Given the description of an element on the screen output the (x, y) to click on. 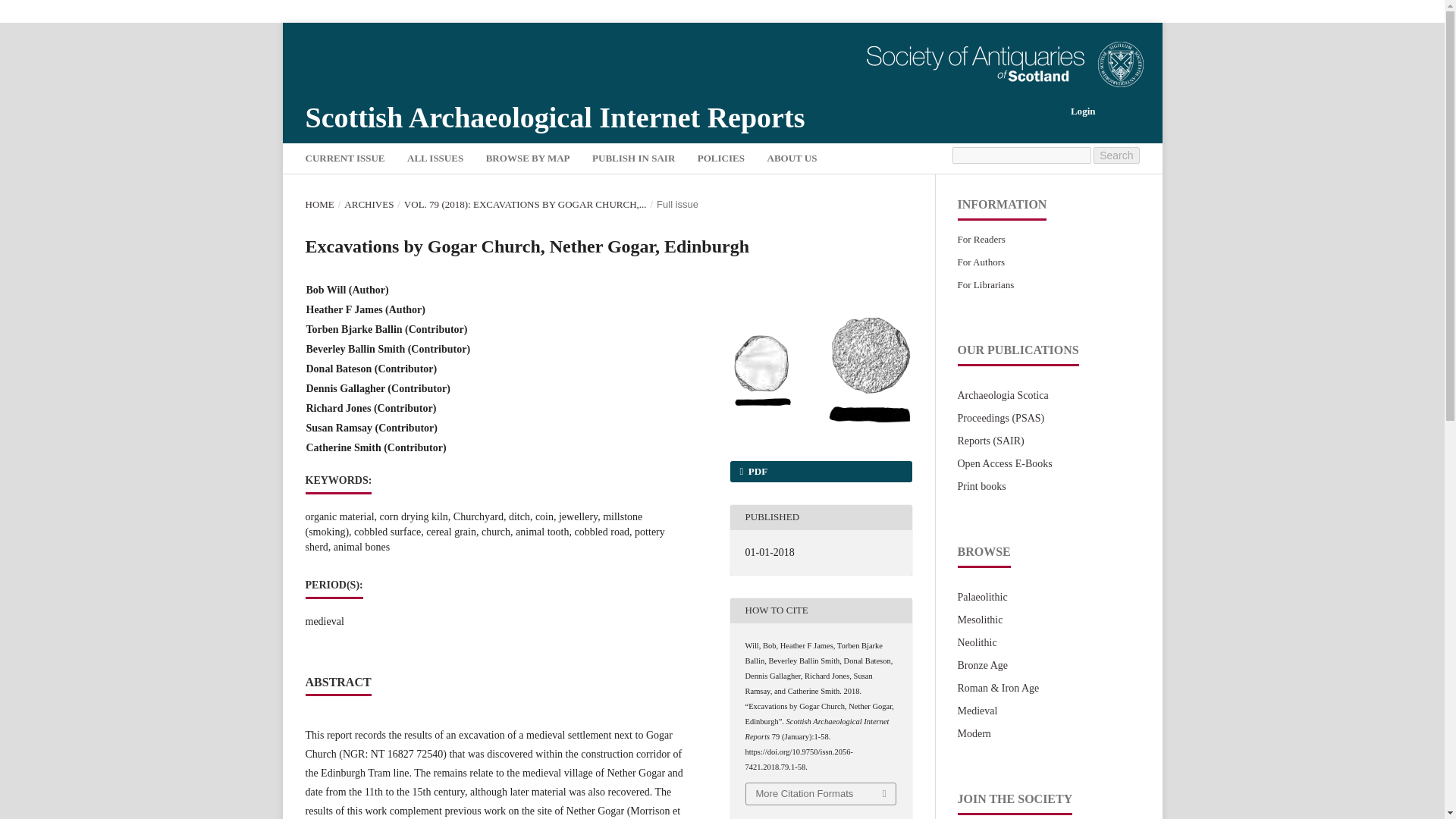
Mesolithic (979, 619)
Scottish Archaeological Internet Reports (554, 117)
POLICIES (721, 160)
BROWSE BY MAP (527, 160)
Archaeologia Scotica (1002, 395)
 Proceedings of the Society of Antiquaries of Scotland  (999, 418)
Medieval (976, 710)
Modern (973, 733)
For Librarians (984, 284)
Login (1082, 110)
More Citation Formats (820, 793)
HOME (318, 204)
ALL ISSUES (435, 160)
Bronze Age (981, 665)
